Given the description of an element on the screen output the (x, y) to click on. 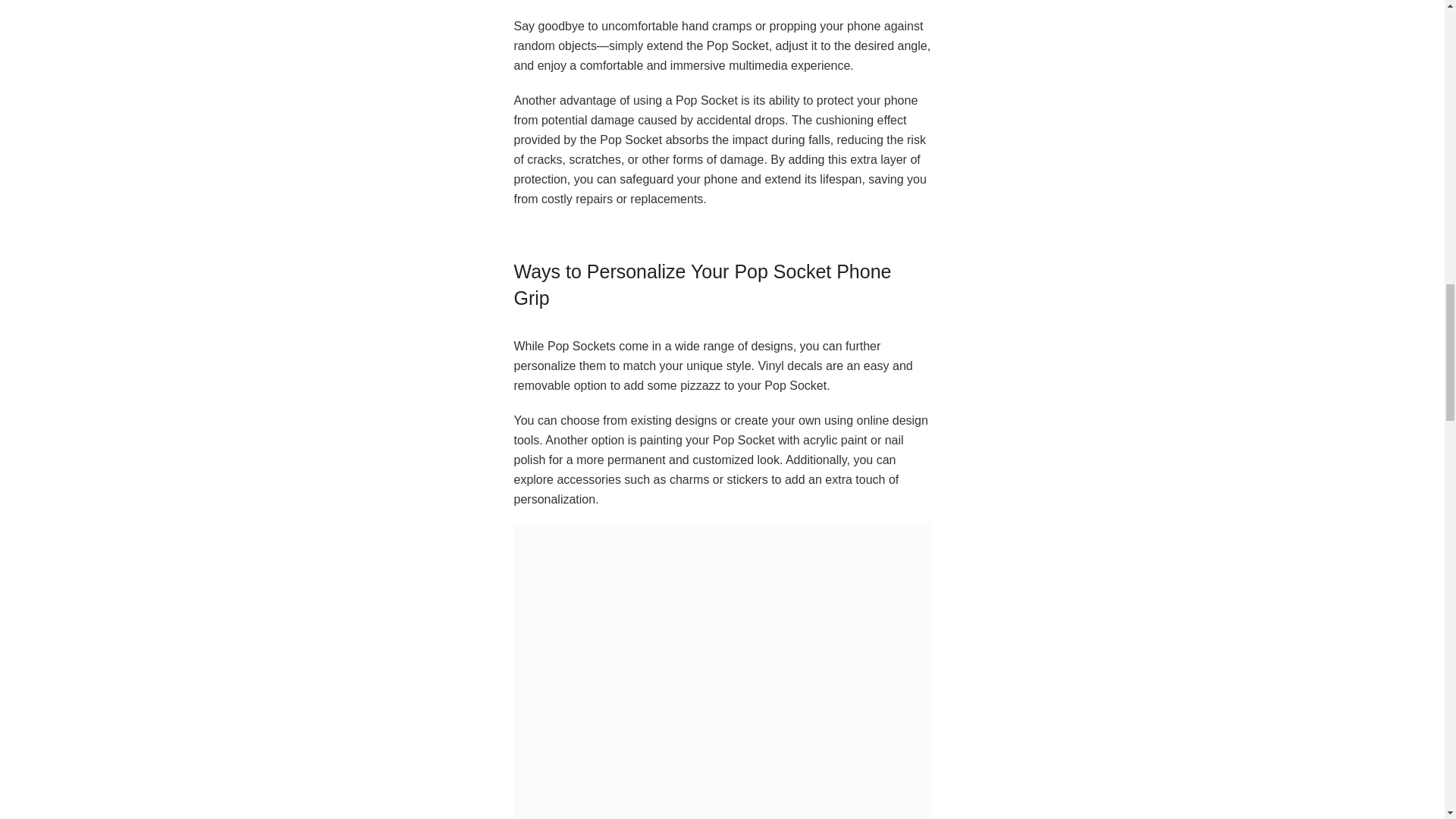
Pop Sockets: More Than Just a Phone Accessory 1 (722, 671)
